Given the description of an element on the screen output the (x, y) to click on. 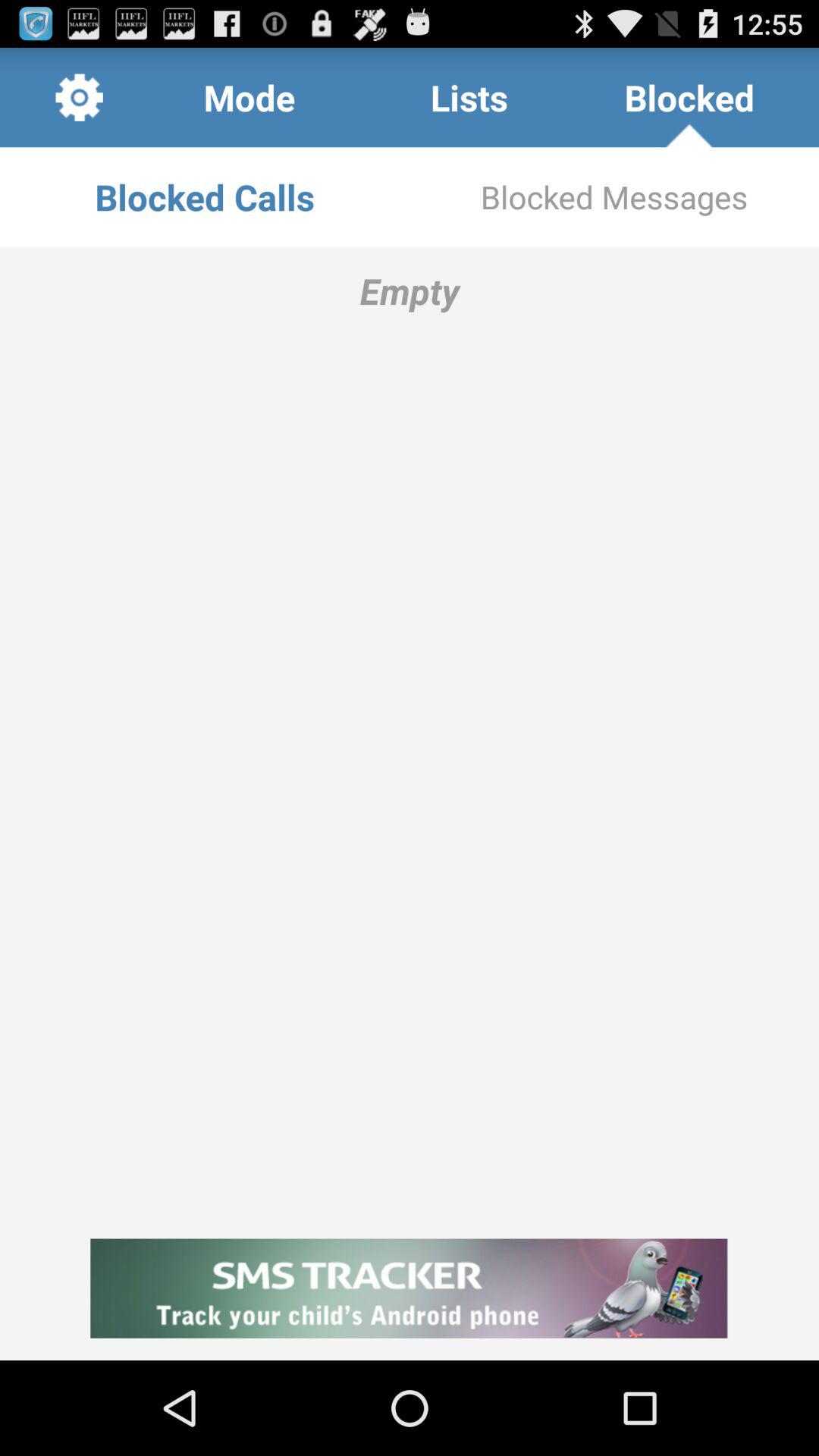
tap the app next to the blocked messages (204, 196)
